Given the description of an element on the screen output the (x, y) to click on. 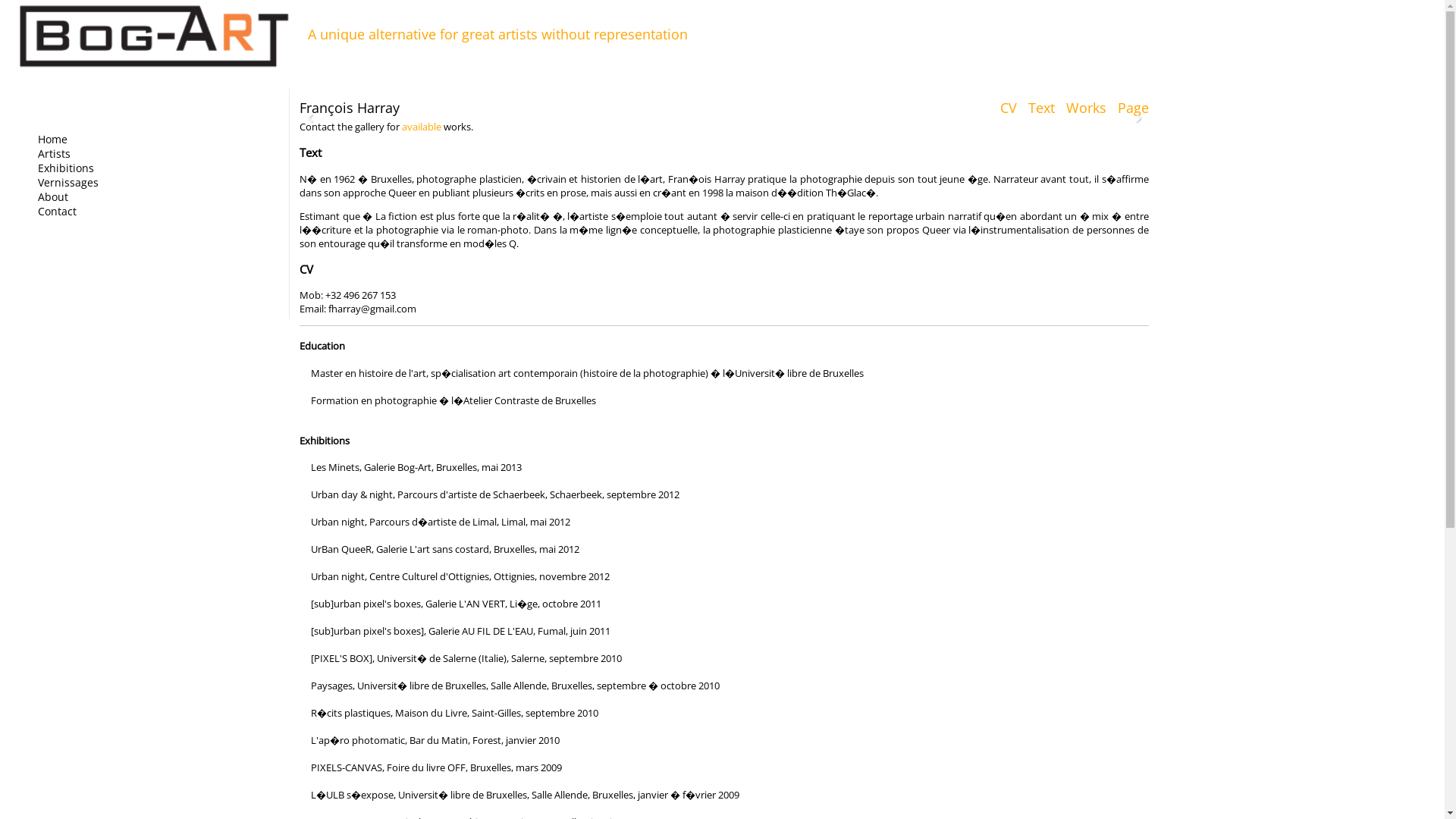
   Home Element type: text (47, 138)
  CV Element type: text (1003, 107)
   Vernissages Element type: text (63, 182)
  Text Element type: text (1037, 107)
   Exhibitions Element type: text (61, 167)
   Artists Element type: text (49, 153)
  Page Element type: text (1129, 107)
   Contact Element type: text (52, 210)
  Works Element type: text (1084, 107)
available Element type: text (422, 126)
   About Element type: text (48, 196)
